Given the description of an element on the screen output the (x, y) to click on. 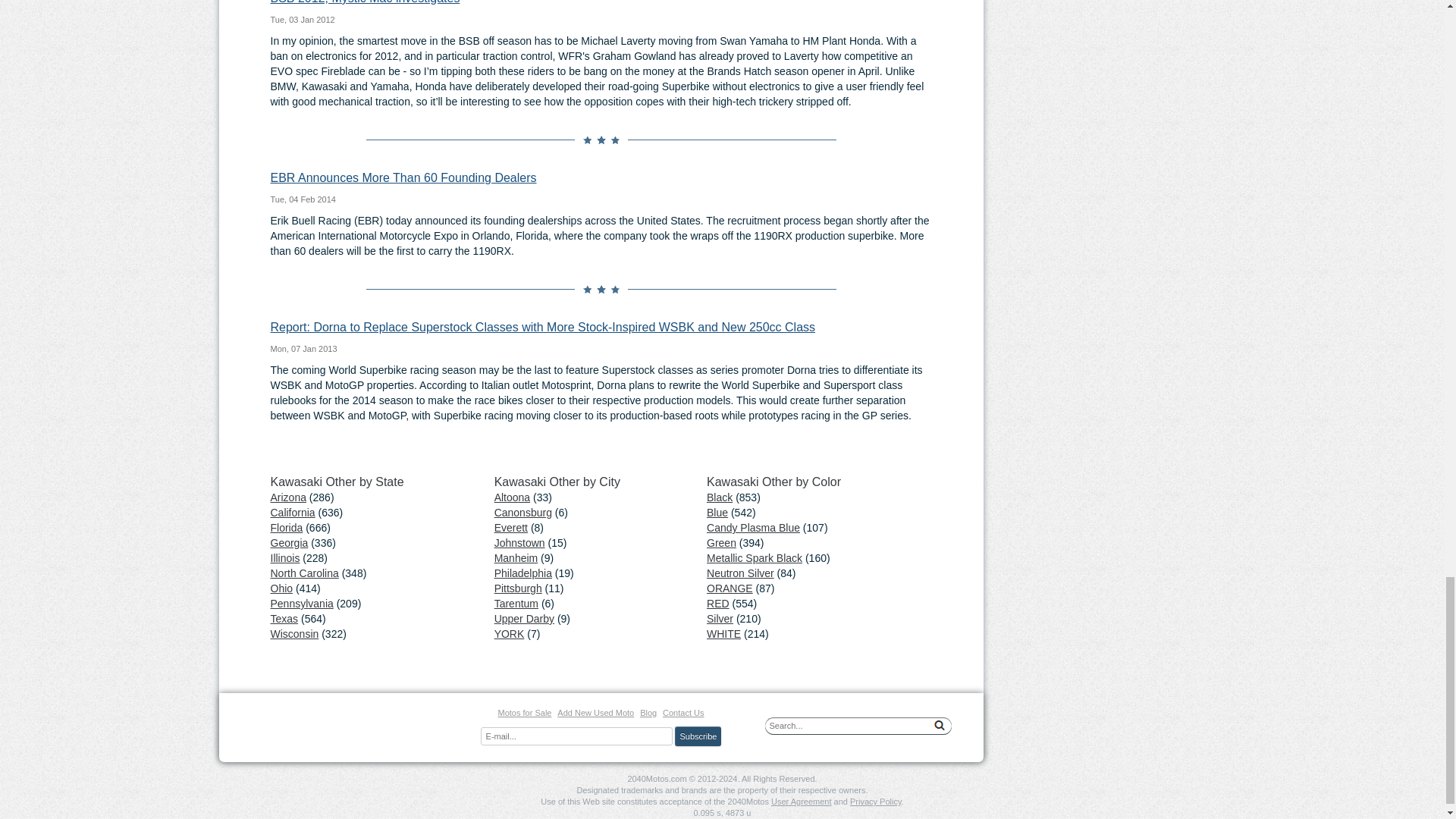
Canonsburg (523, 512)
North Carolina (303, 573)
Georgia (288, 542)
Florida (285, 527)
Philadelphia (523, 573)
Wisconsin (293, 633)
Subscribe (697, 736)
Johnstown (519, 542)
Pittsburgh (518, 588)
EBR Announces More Than 60 Founding Dealers (402, 177)
California (291, 512)
Manheim (516, 558)
Texas (283, 618)
Ohio (280, 588)
